Given the description of an element on the screen output the (x, y) to click on. 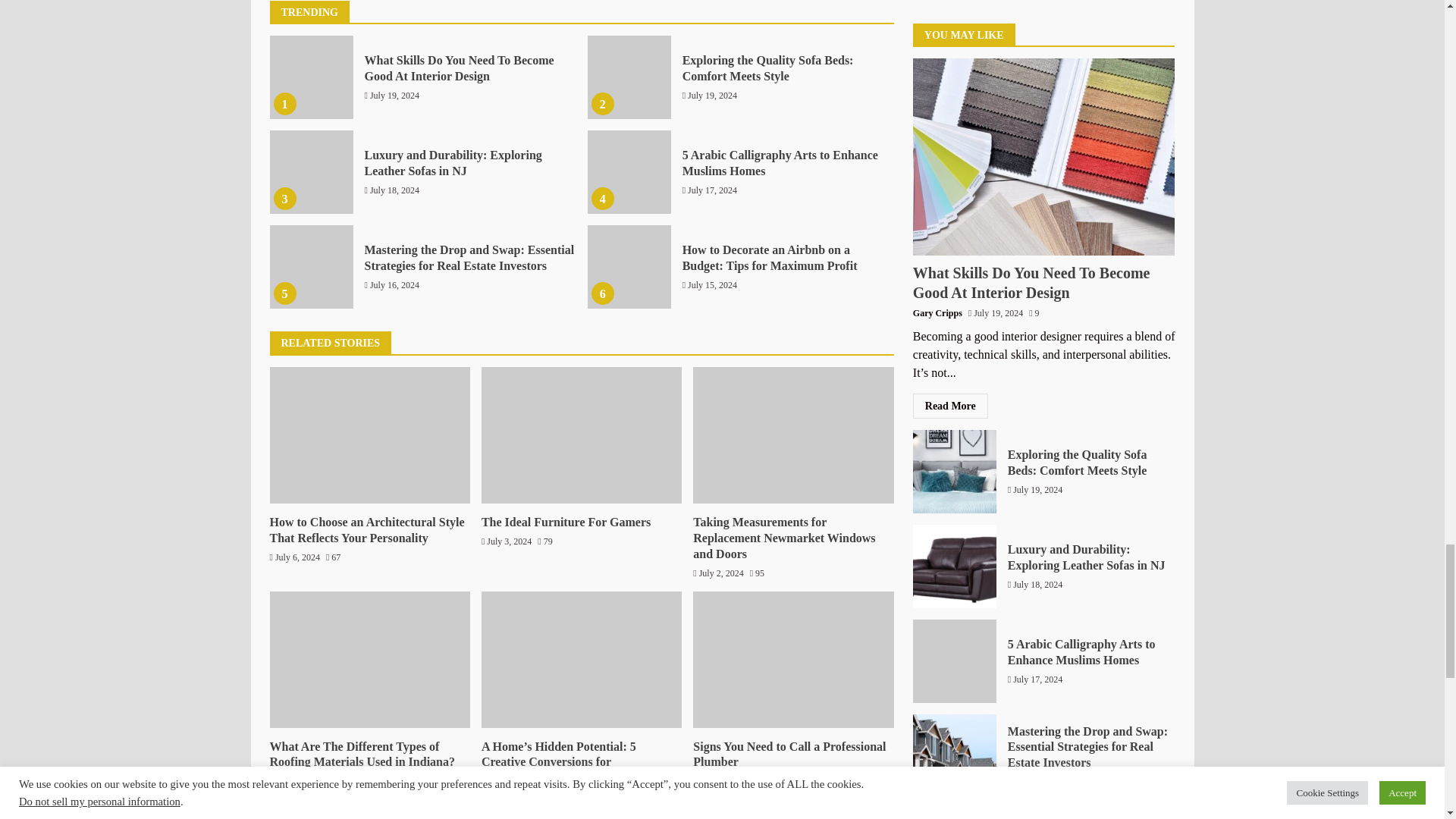
Exploring the Quality Sofa Beds: Comfort Meets Style (629, 77)
What Skills Do You Need To Become Good At Interior Design (458, 68)
Exploring the Quality Sofa Beds: Comfort Meets Style (767, 68)
5 Arabic Calligraphy Arts to Enhance Muslims Homes (629, 171)
What Skills Do You Need To Become Good At Interior Design (311, 77)
Luxury and Durability: Exploring Leather Sofas in NJ (311, 171)
Luxury and Durability: Exploring Leather Sofas in NJ (452, 162)
5 Arabic Calligraphy Arts to Enhance Muslims Homes (779, 162)
